Given the description of an element on the screen output the (x, y) to click on. 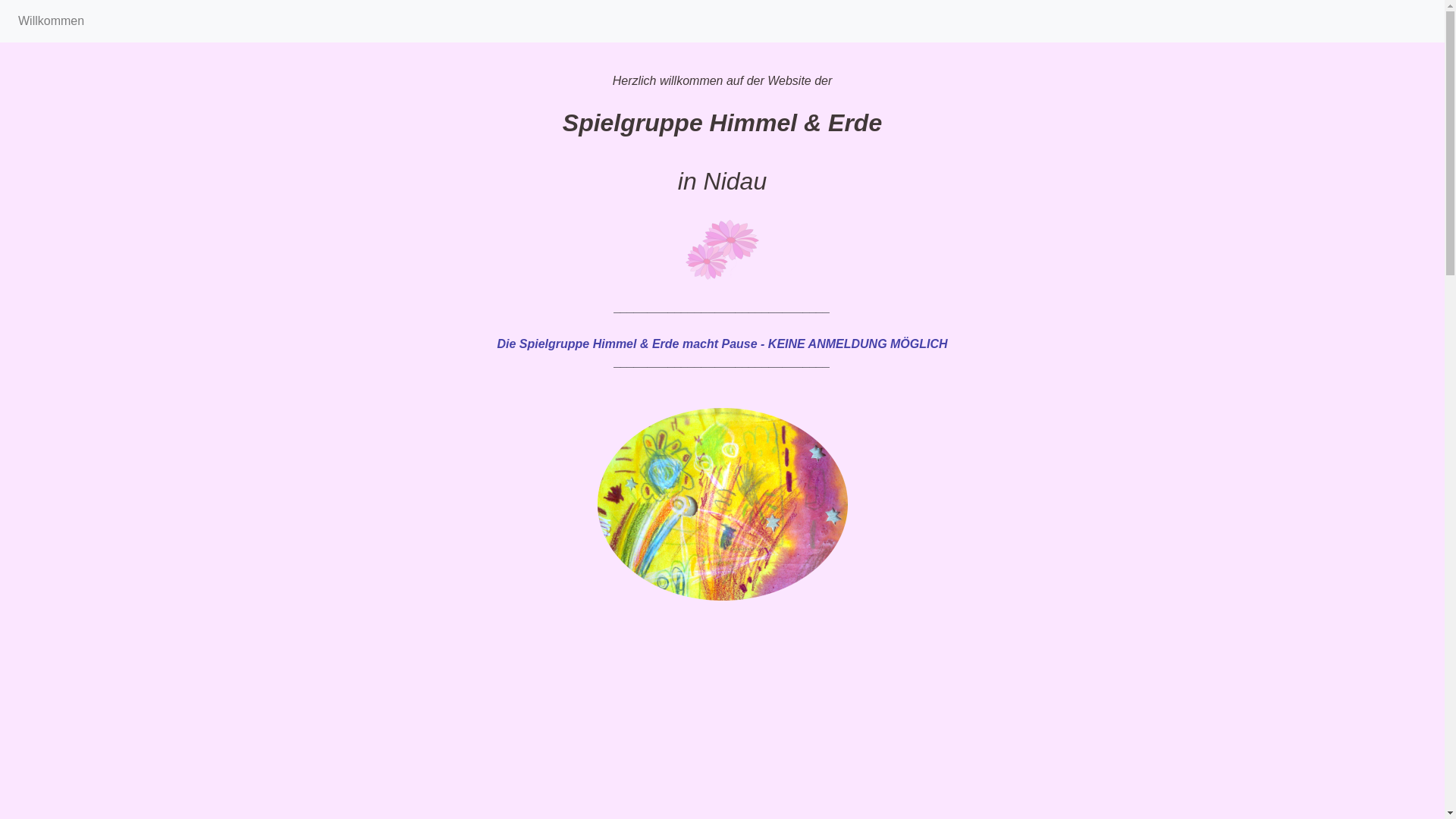
Willkommen Element type: text (51, 21)
